Given the description of an element on the screen output the (x, y) to click on. 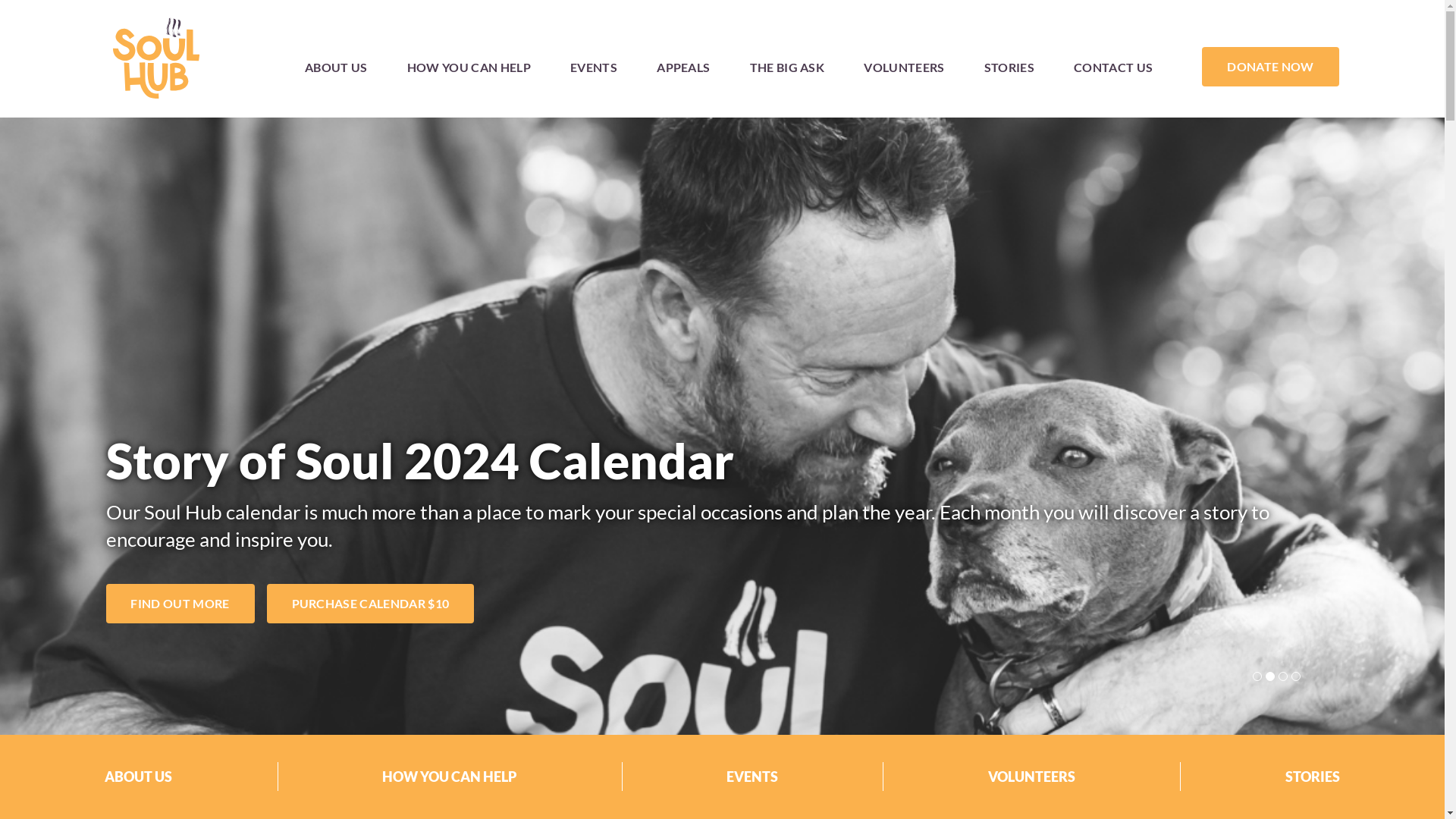
THE BIG ASK Element type: text (787, 66)
VOLUNTEERS Element type: text (903, 66)
DONATE NOW Element type: text (1269, 66)
FIND OUT MORE Element type: text (180, 603)
ABOUT US Element type: text (336, 66)
CONTACT US Element type: text (1113, 66)
HOW YOU CAN HELP Element type: text (468, 66)
Story of Soul 2024 Calendar Element type: text (420, 459)
EVENTS Element type: text (593, 66)
PURCHASE CALENDAR $10 Element type: text (370, 603)
STORIES Element type: text (1009, 66)
APPEALS Element type: text (683, 66)
